Given the description of an element on the screen output the (x, y) to click on. 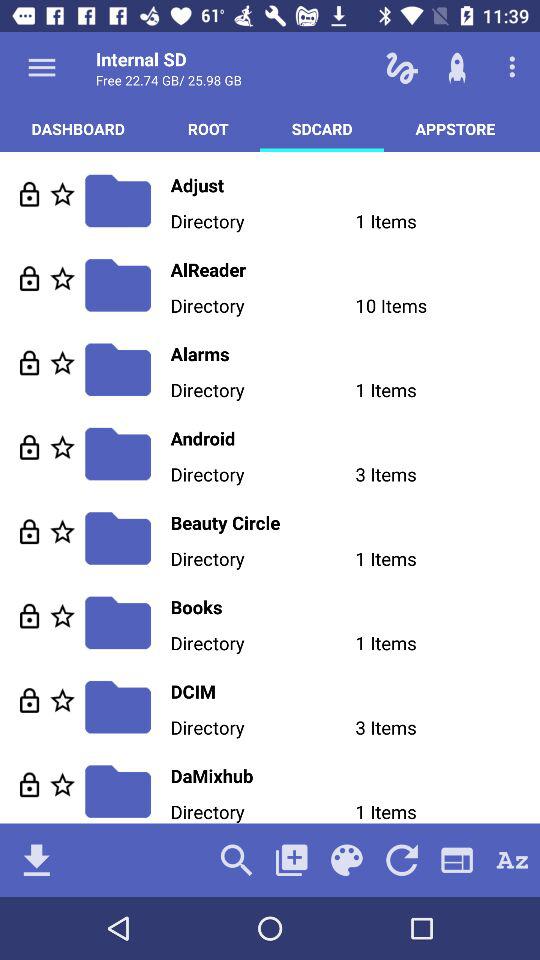
locked (29, 531)
